Given the description of an element on the screen output the (x, y) to click on. 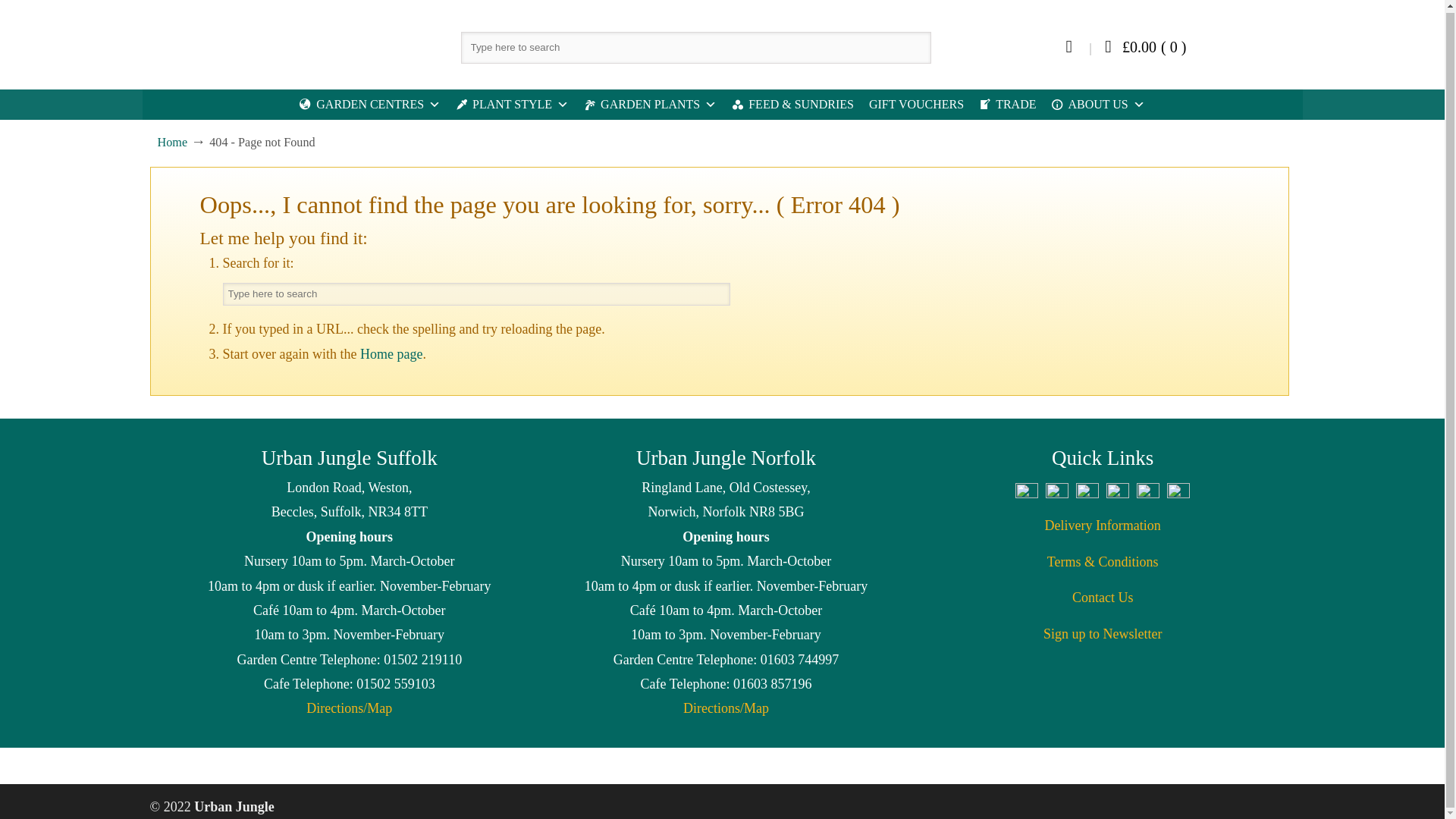
GARDEN PLANTS (649, 104)
Urban Jungle (232, 43)
Search (718, 293)
TRADE (1007, 104)
Urban Jungle (232, 43)
ABOUT US (1097, 104)
GIFT VOUCHERS (916, 104)
GARDEN CENTRES (370, 104)
PLANT STYLE (512, 104)
